Given the description of an element on the screen output the (x, y) to click on. 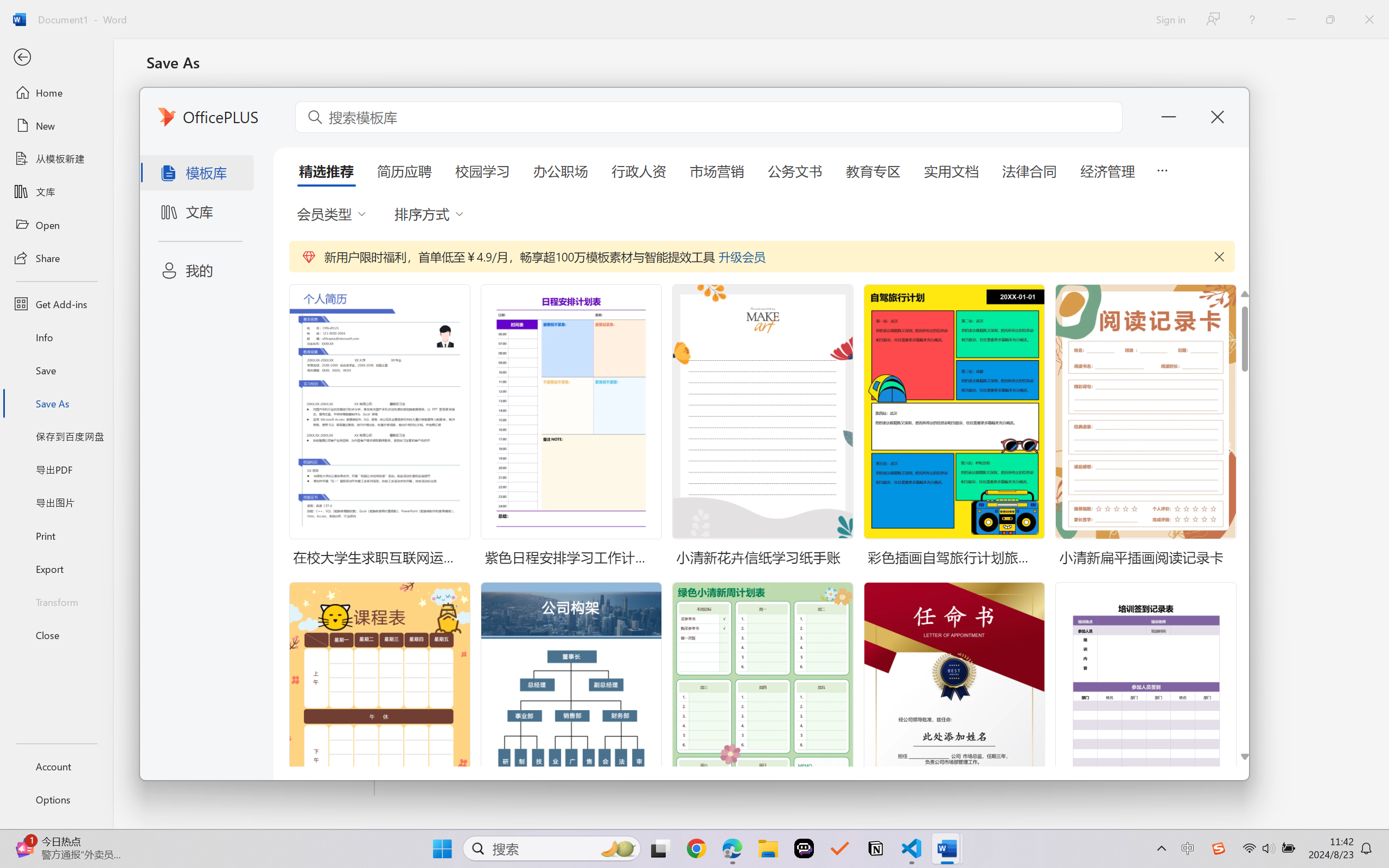
Options (56, 798)
Back (56, 57)
Sign in (1170, 18)
Export (56, 568)
